Given the description of an element on the screen output the (x, y) to click on. 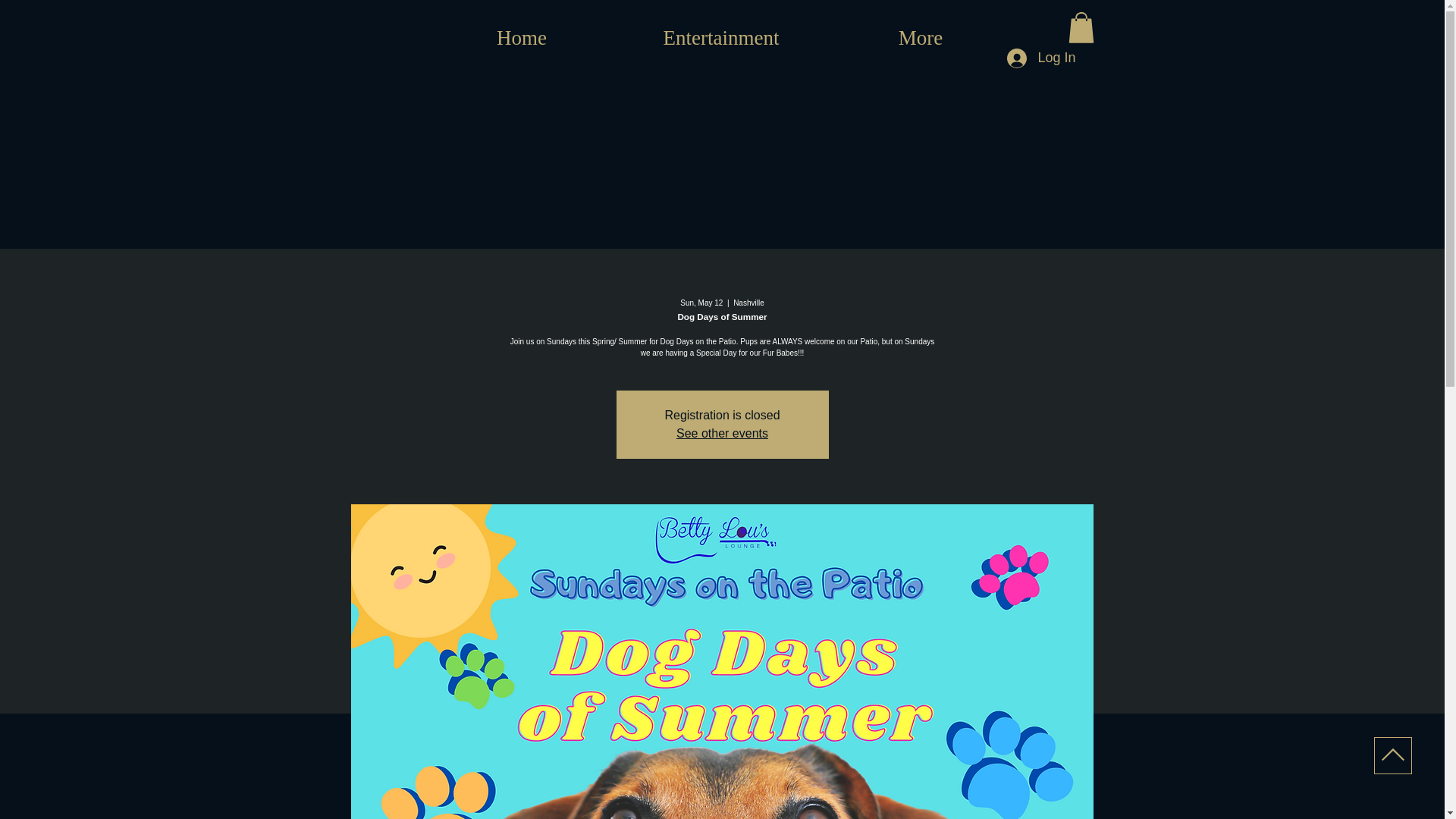
See other events (722, 432)
Log In (1040, 58)
Entertainment (721, 37)
Home (521, 37)
